Given the description of an element on the screen output the (x, y) to click on. 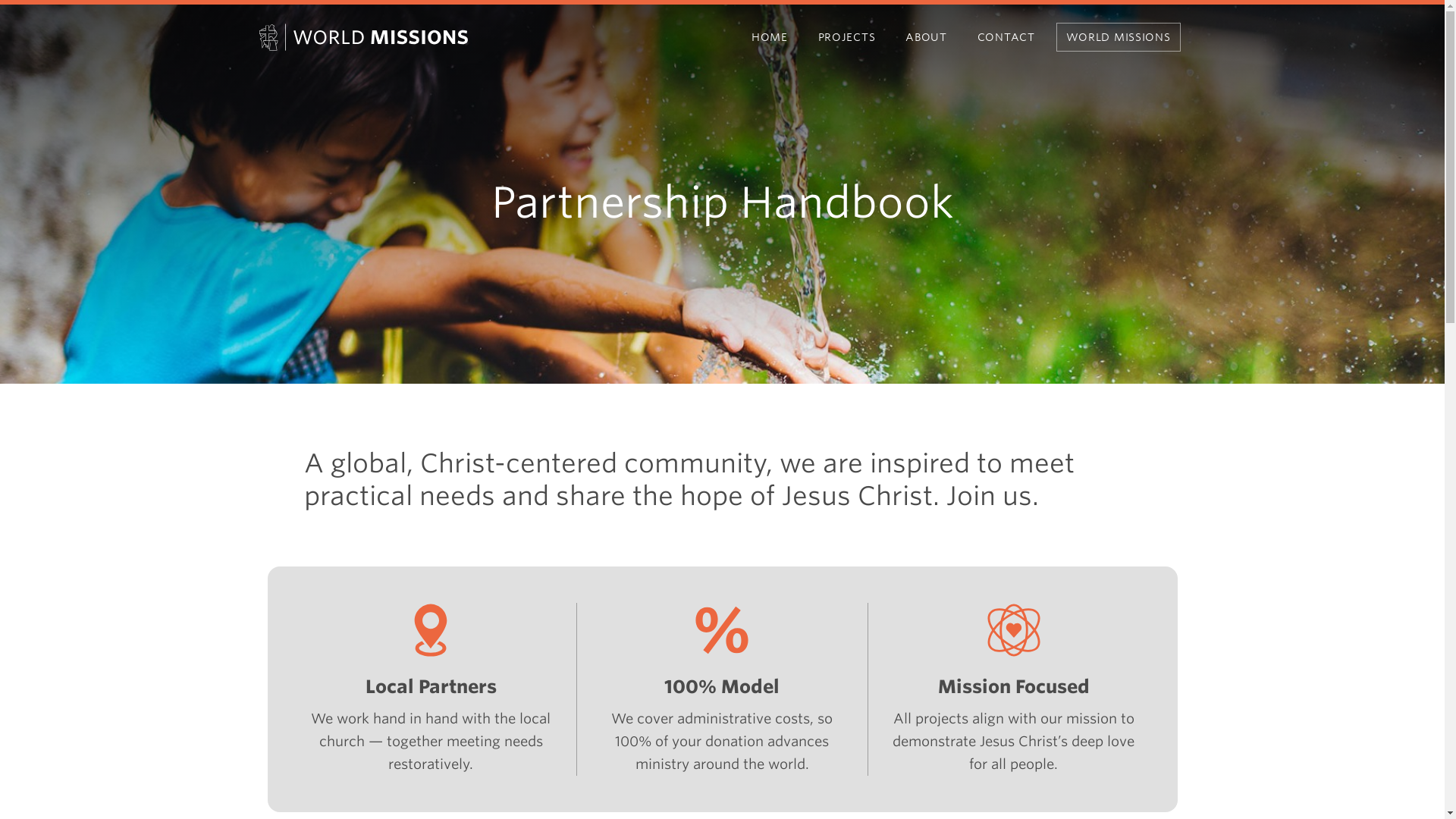
PROJECTS (847, 36)
Skip to content (317, 24)
WORLD MISSIONS (1117, 36)
Skip to content (317, 24)
HOME (769, 36)
ABOUT (925, 36)
CONTACT (1005, 36)
